Given the description of an element on the screen output the (x, y) to click on. 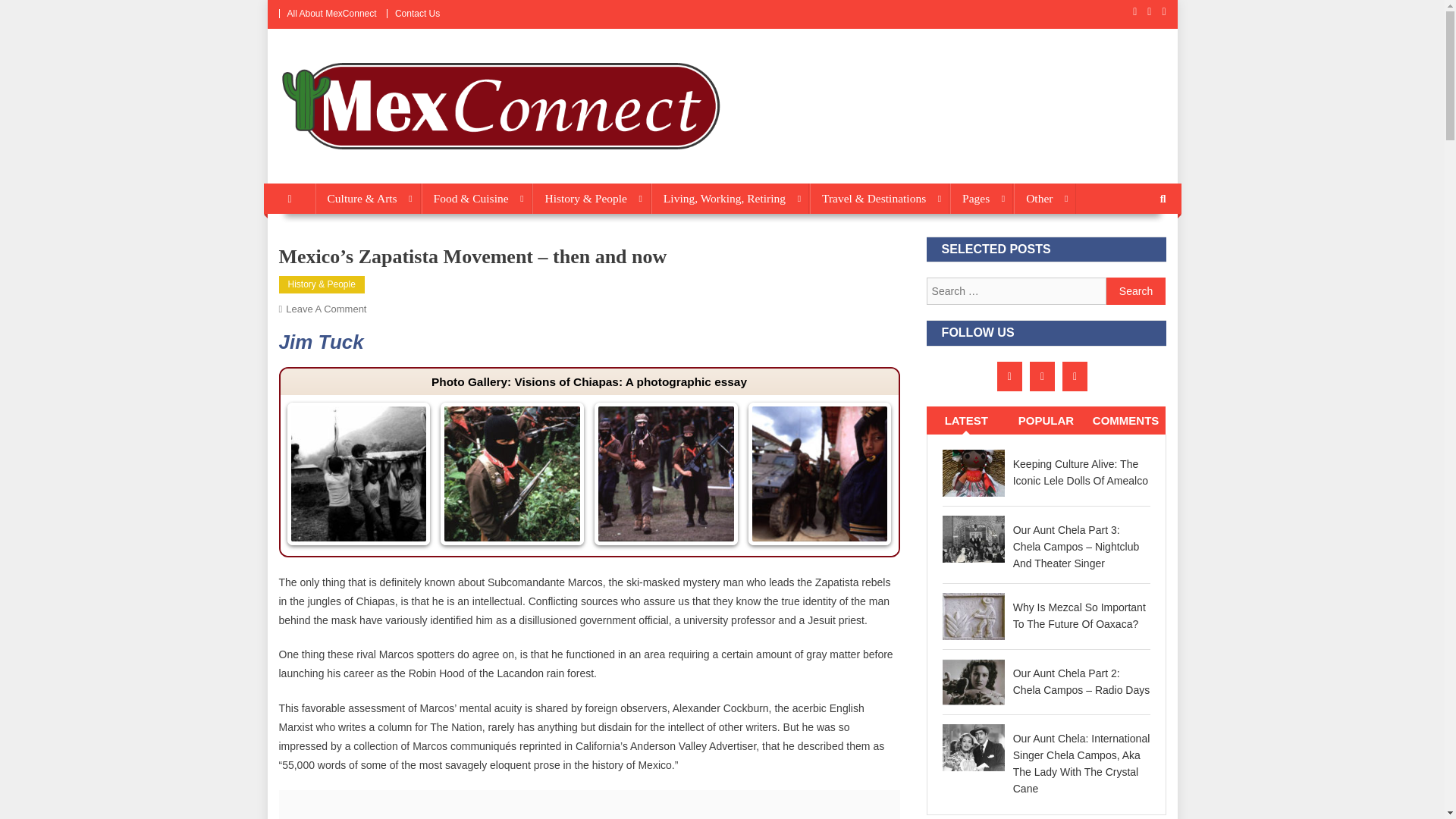
MexConnect (344, 167)
Contact Us (416, 13)
All About MexConnect (330, 13)
Search (1136, 290)
Search (1136, 290)
Living, Working, Retiring (729, 198)
